Given the description of an element on the screen output the (x, y) to click on. 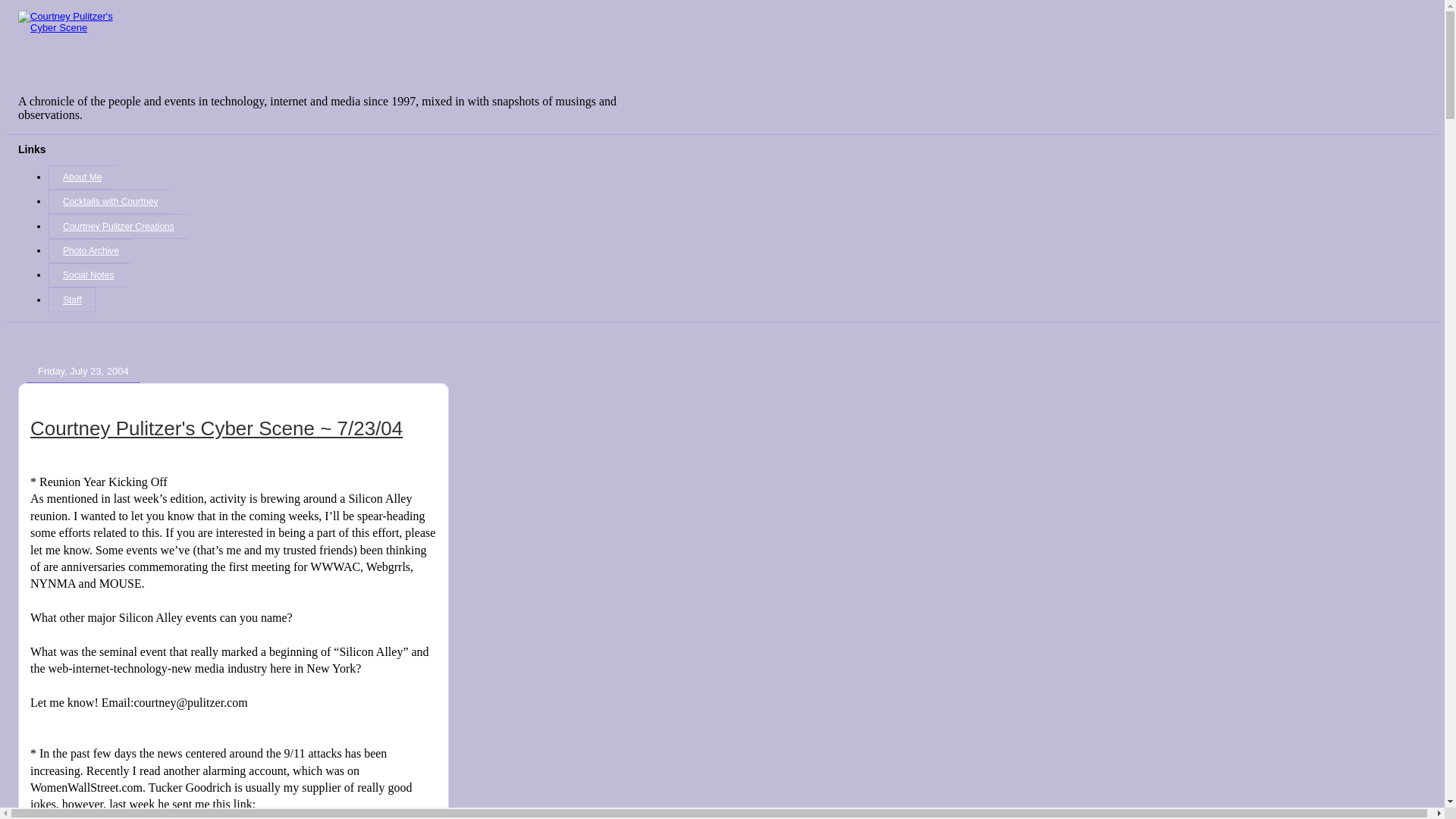
Social Notes (88, 274)
Cocktails with Courtney (109, 201)
About Me (81, 177)
Courtney Pulitzer Creations (117, 225)
Staff (72, 299)
Photo Archive (90, 250)
